Given the description of an element on the screen output the (x, y) to click on. 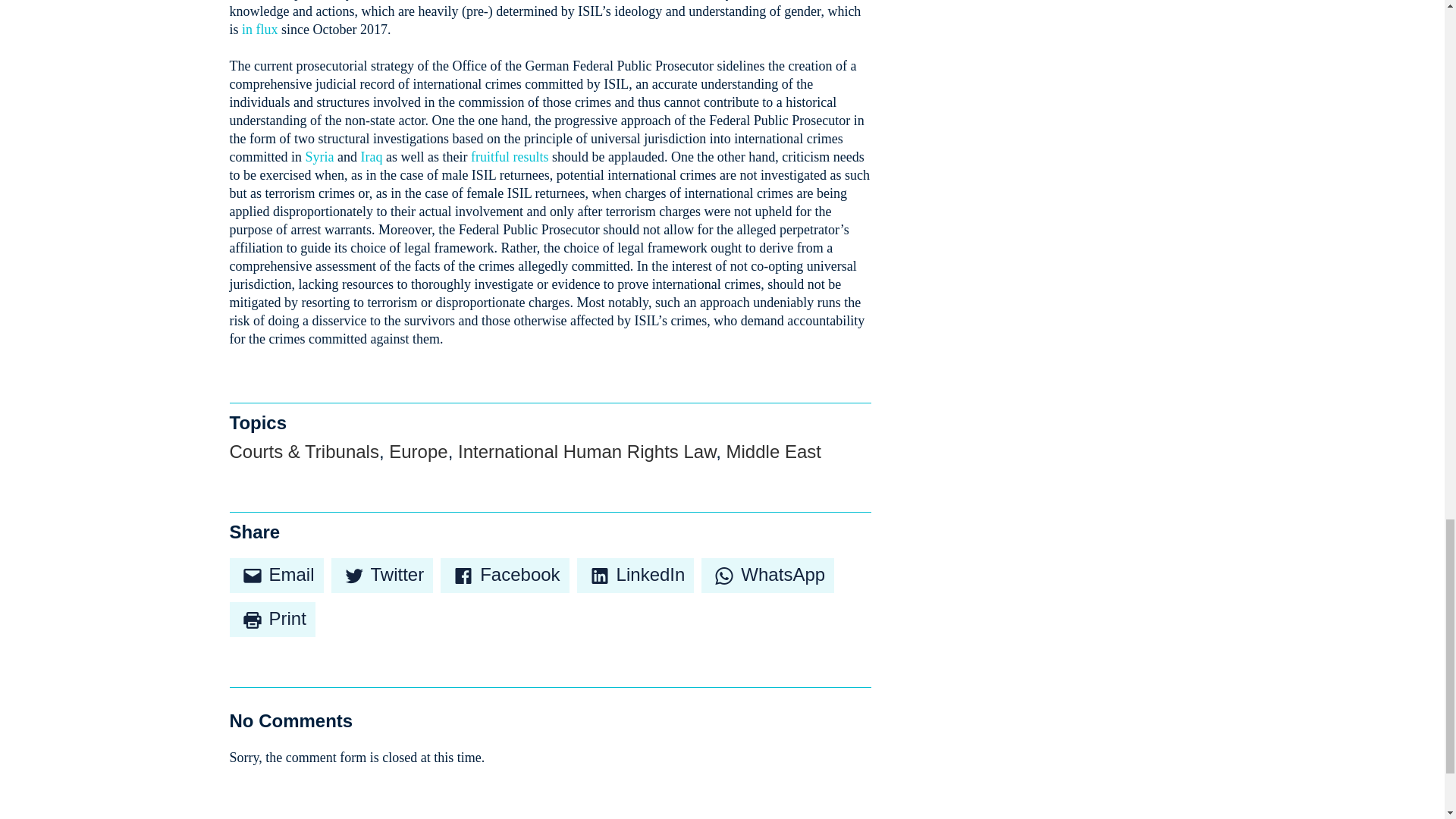
Click to share on WhatsApp (767, 574)
Click to email this to a friend (275, 574)
Click to print (271, 619)
Click to share on LinkedIn (635, 574)
Click to share on Facebook (505, 574)
Click to share on Twitter (382, 574)
